Given the description of an element on the screen output the (x, y) to click on. 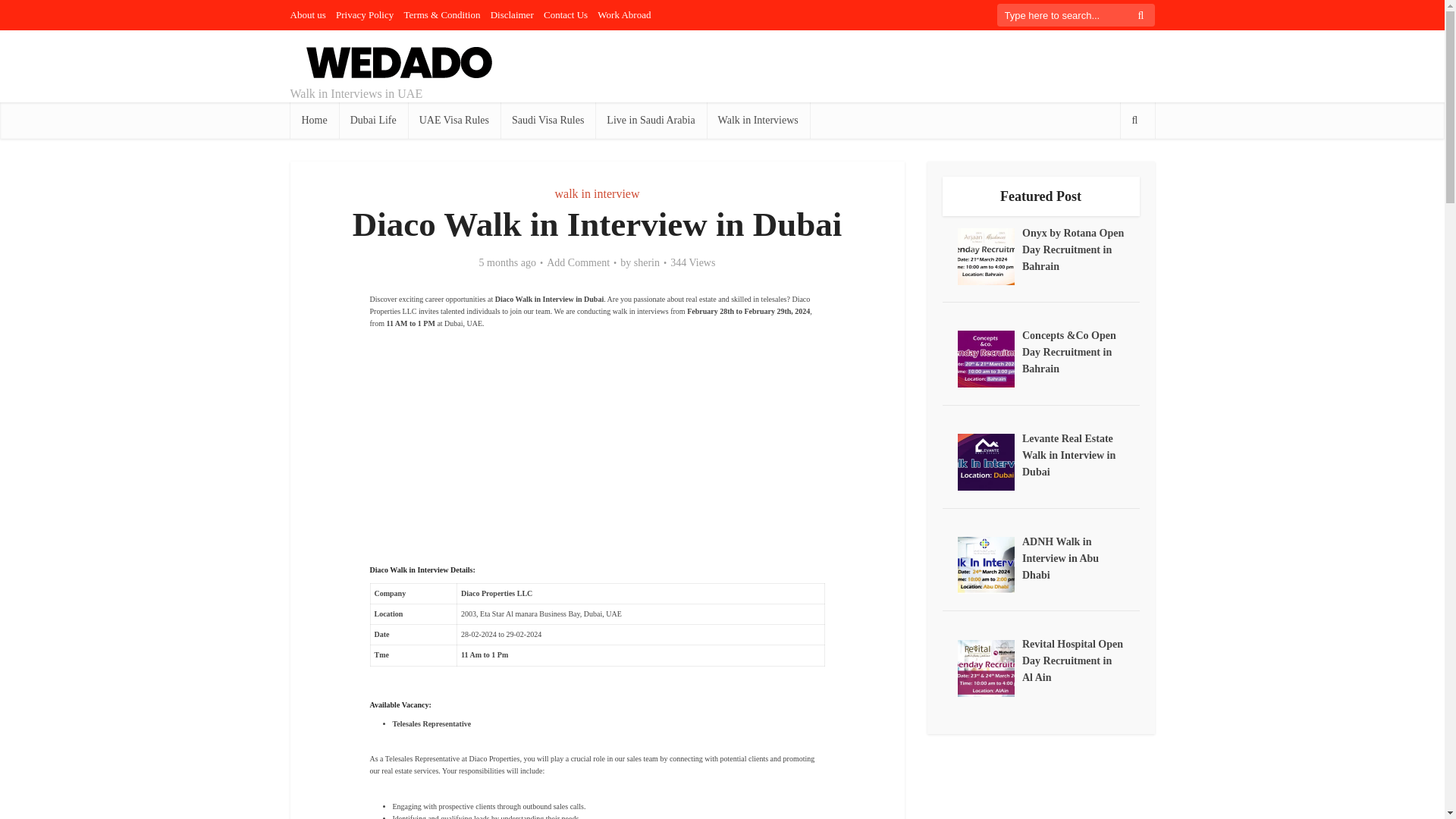
About us (306, 14)
Work Abroad (623, 14)
Saudi Visa Rules (547, 120)
UAE Visa Rules (453, 120)
Home (313, 120)
UAE Visa Rules (453, 120)
Privacy Policy (364, 14)
Live in Saudi Arabia (650, 120)
Disclaimer (512, 14)
Dubai Life (373, 120)
Type here to search... (1074, 15)
Contact Us (565, 14)
Work Abroad (623, 14)
Privacy Policy (364, 14)
sherin (646, 263)
